Given the description of an element on the screen output the (x, y) to click on. 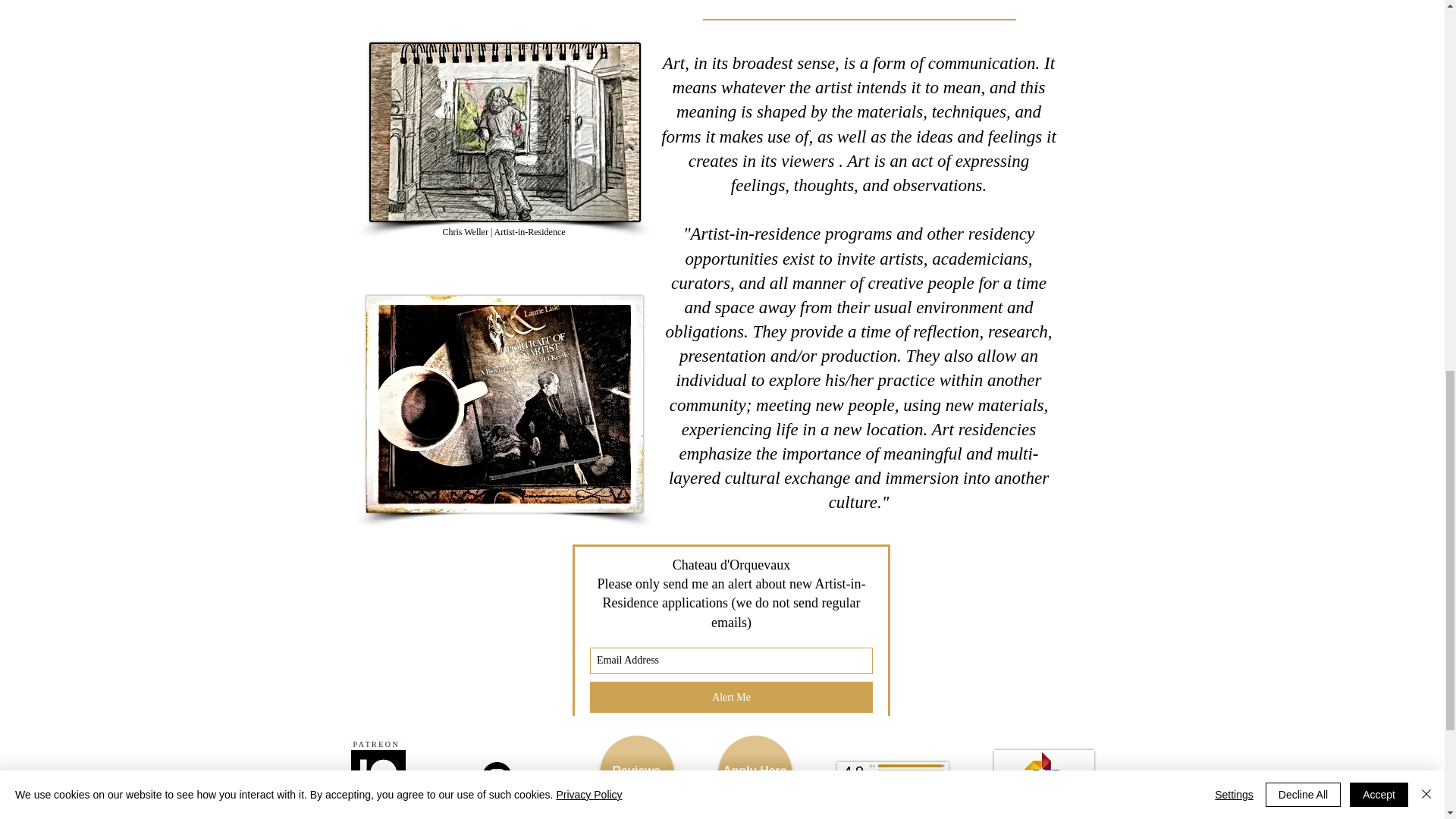
Wix Get Subscribers (730, 629)
Reviews (635, 771)
Apply Here (755, 771)
